Given the description of an element on the screen output the (x, y) to click on. 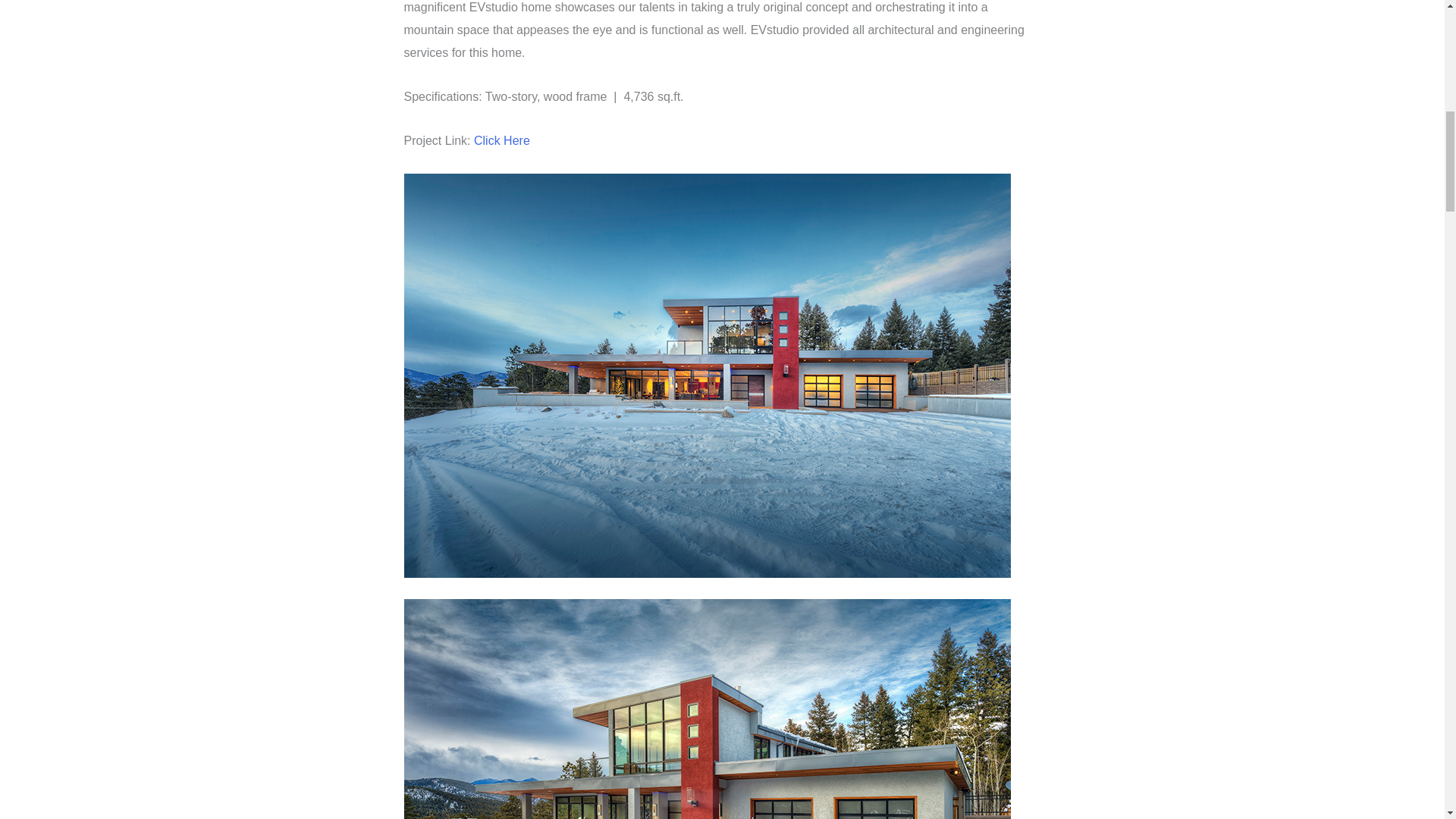
Click Here (501, 140)
